Given the description of an element on the screen output the (x, y) to click on. 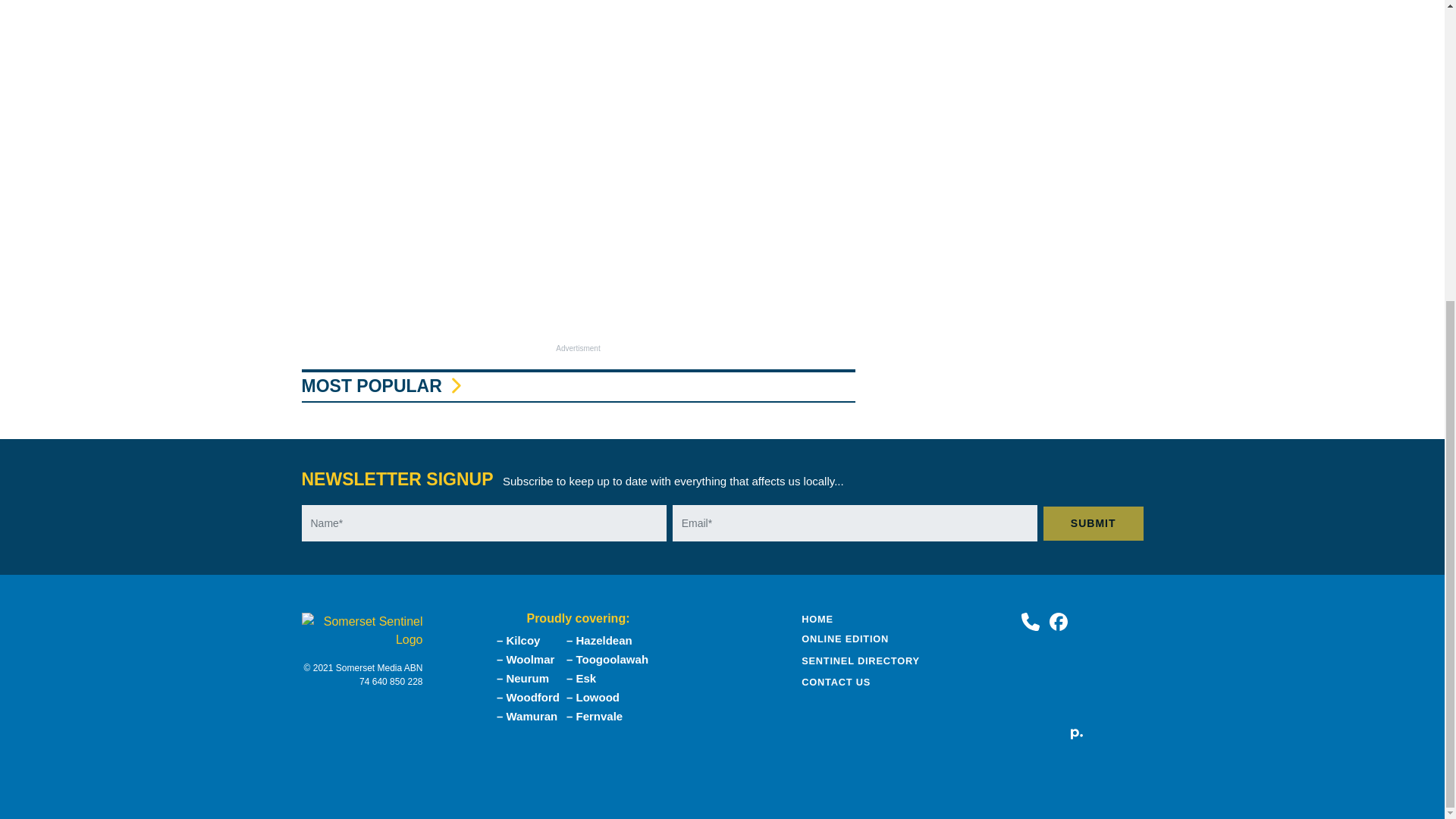
Submit (1092, 523)
HOME (817, 619)
CONTACT US (836, 681)
SENTINEL DIRECTORY (861, 660)
ONLINE EDITION (845, 638)
Submit (1092, 523)
